Given the description of an element on the screen output the (x, y) to click on. 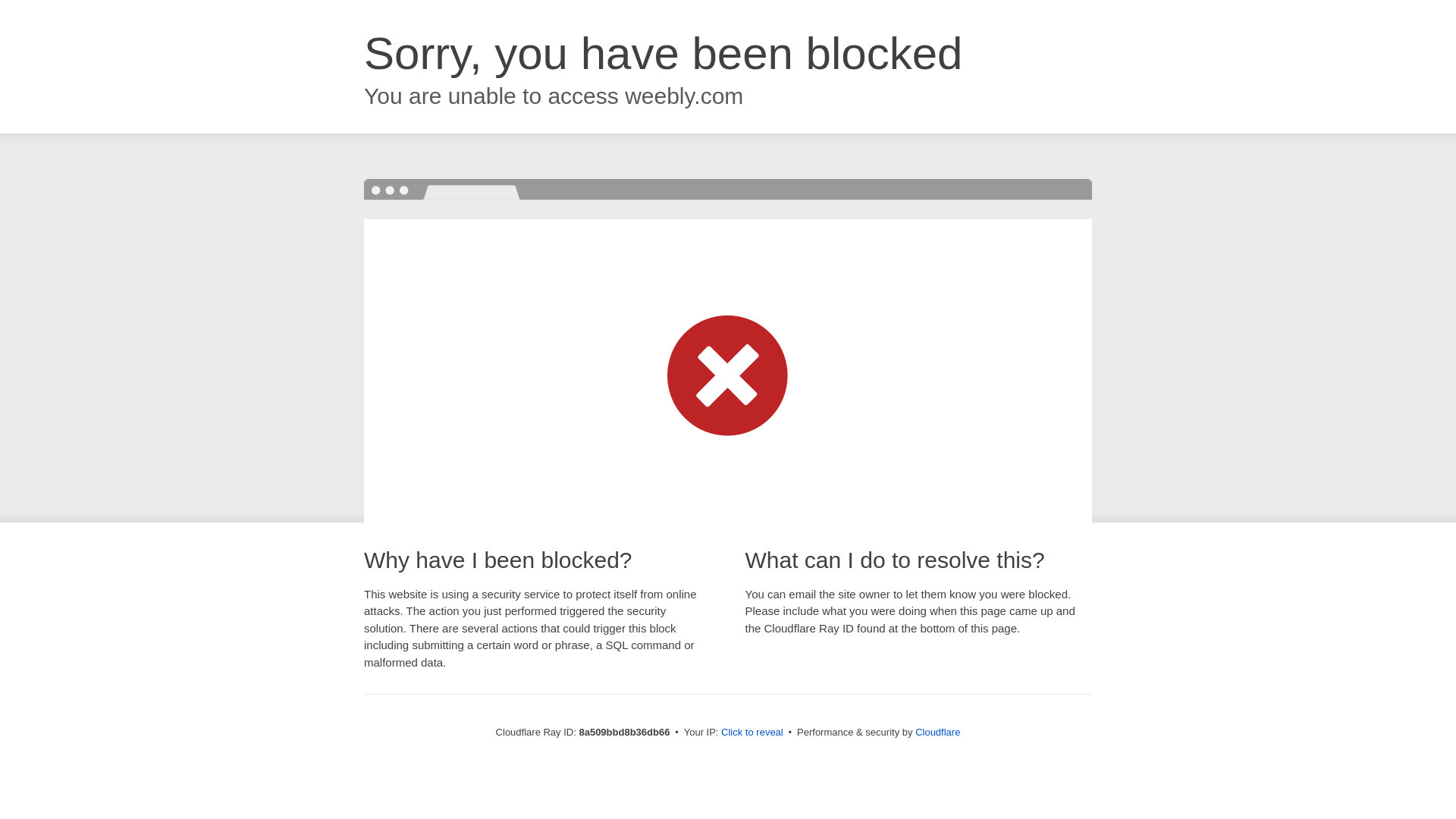
Click to reveal (751, 732)
Cloudflare (937, 731)
